Given the description of an element on the screen output the (x, y) to click on. 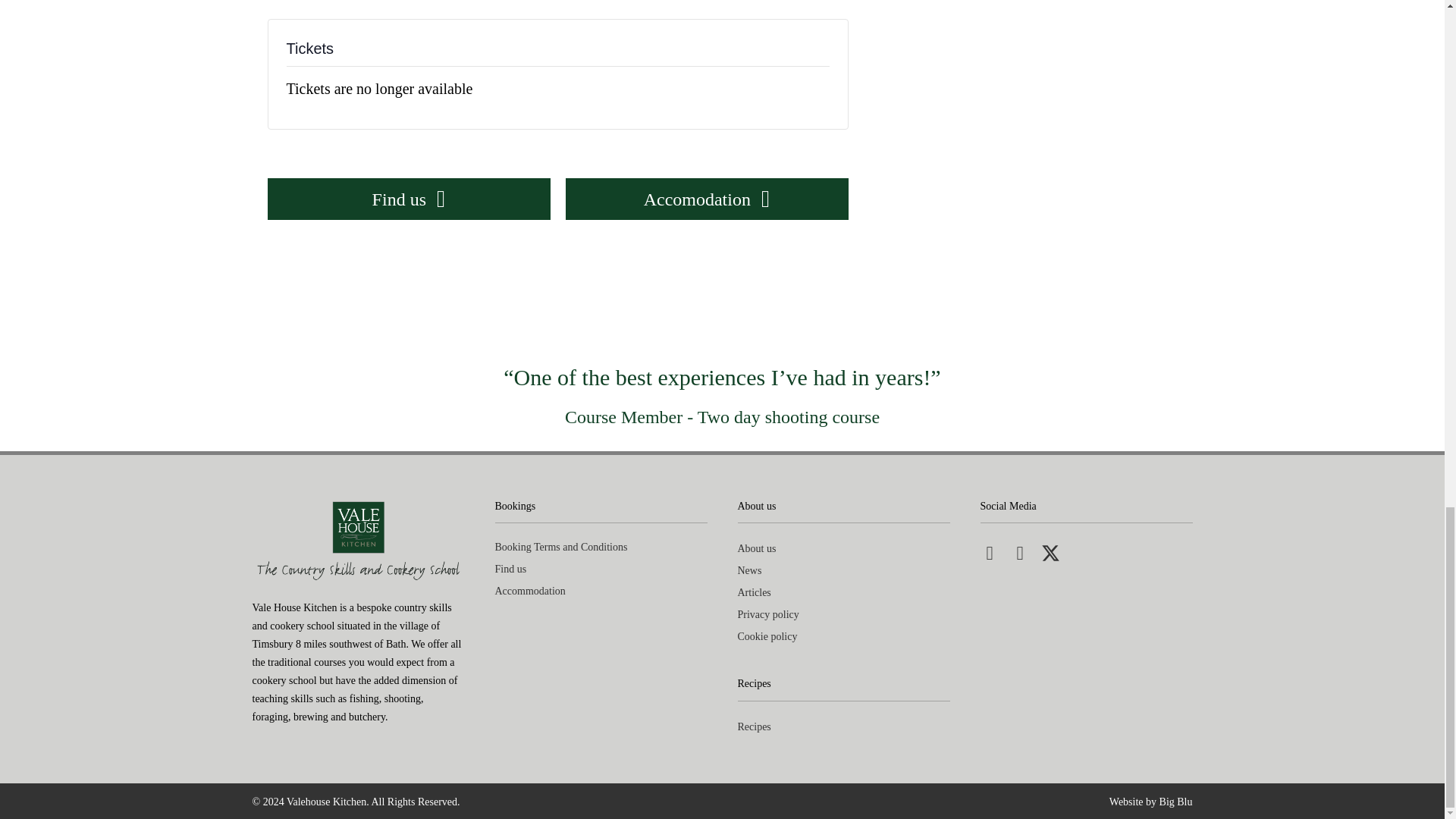
Find us (600, 568)
Web Design in Honiton by Big Blu (1150, 801)
News (842, 570)
Accomodation (707, 199)
Instagram (1019, 552)
Articles (842, 592)
About us (842, 548)
Facebook (988, 552)
Accommodation (600, 590)
Find us (408, 199)
